Given the description of an element on the screen output the (x, y) to click on. 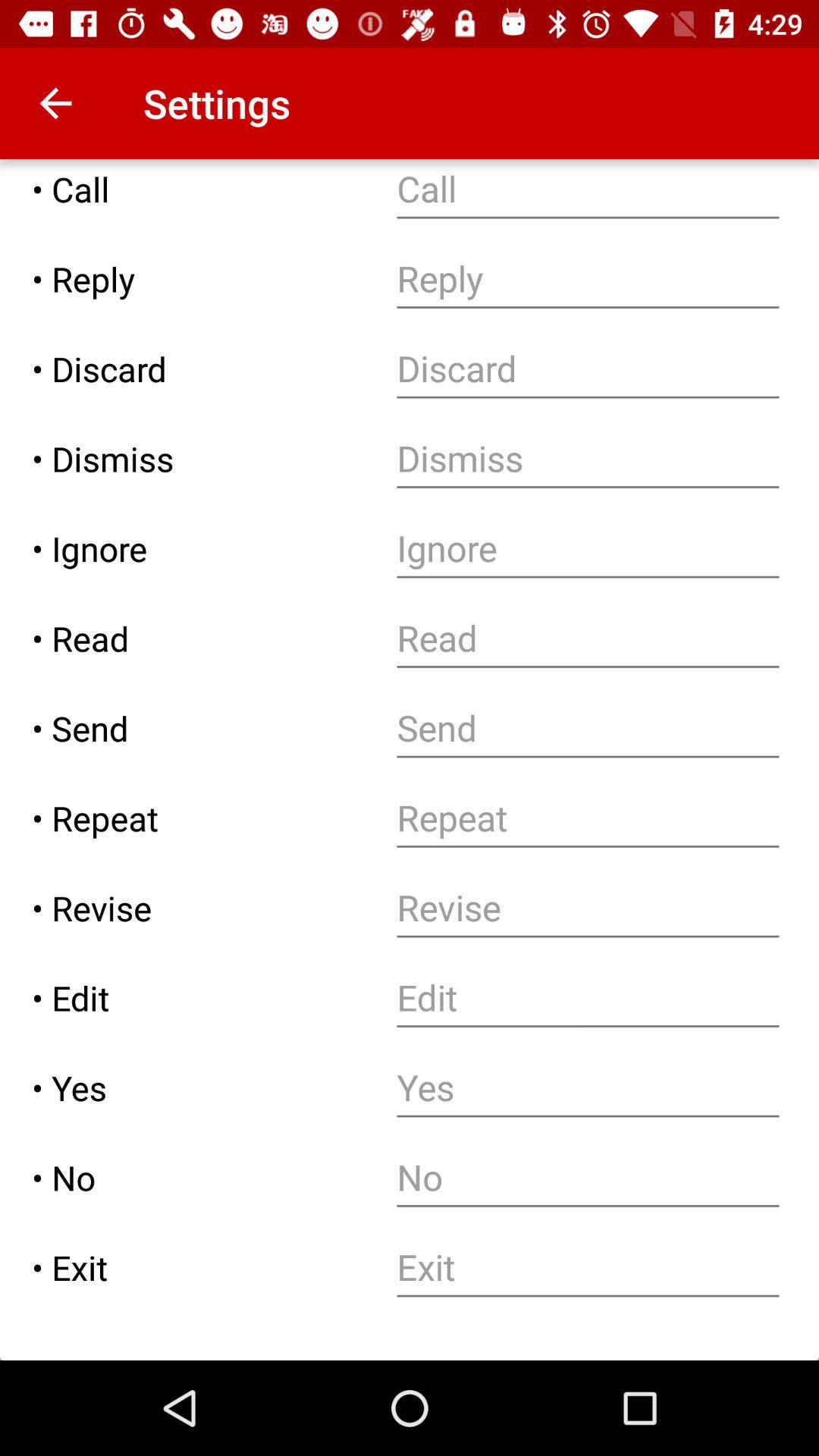
typing box (588, 369)
